Given the description of an element on the screen output the (x, y) to click on. 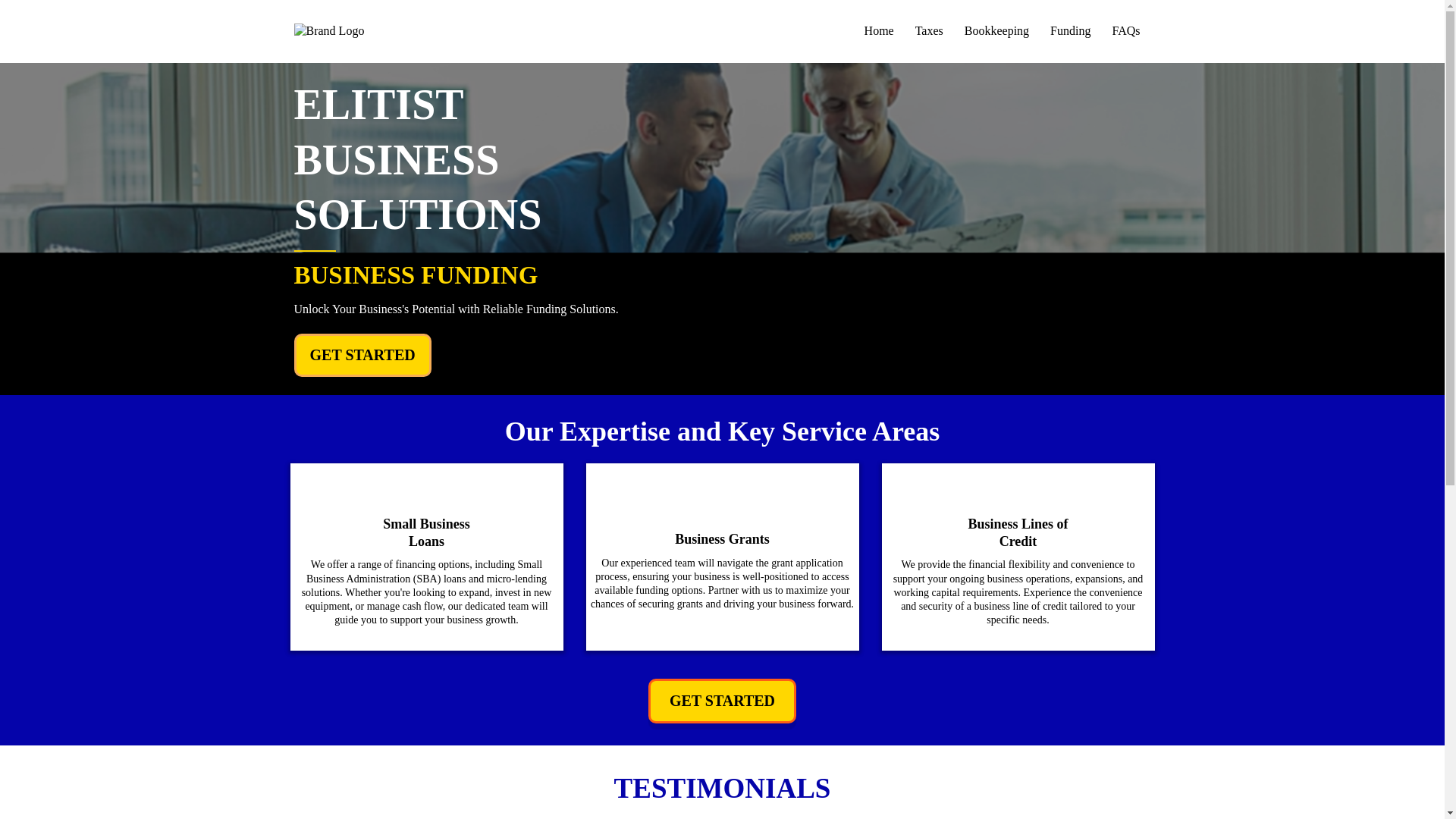
Taxes (928, 31)
Funding (1069, 31)
Home (878, 31)
FAQs (1125, 31)
GET STARTED (721, 700)
Bookkeeping (996, 31)
GET STARTED (362, 354)
TESTIMONIALS (722, 788)
